Given the description of an element on the screen output the (x, y) to click on. 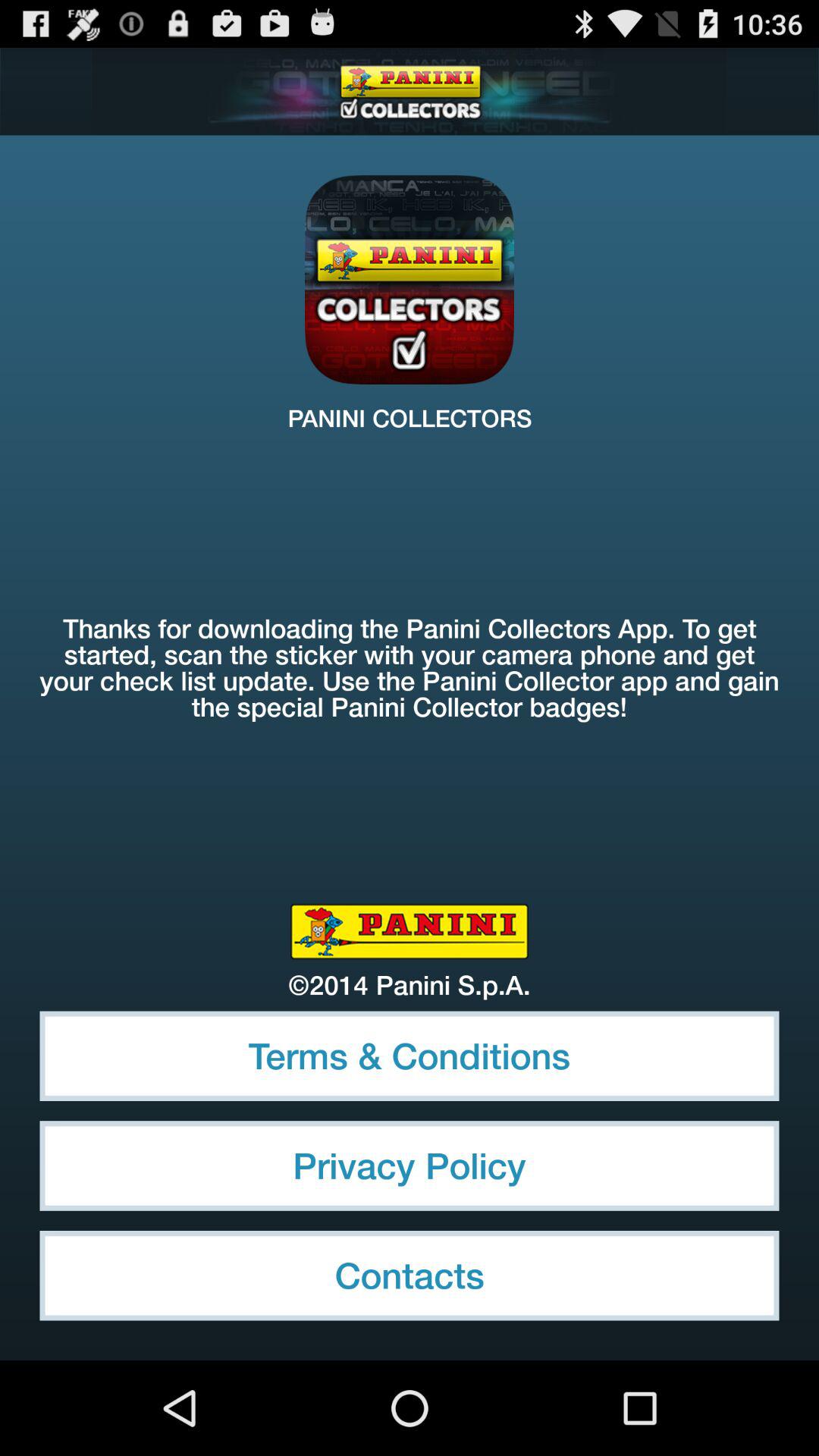
turn off contacts (409, 1275)
